Given the description of an element on the screen output the (x, y) to click on. 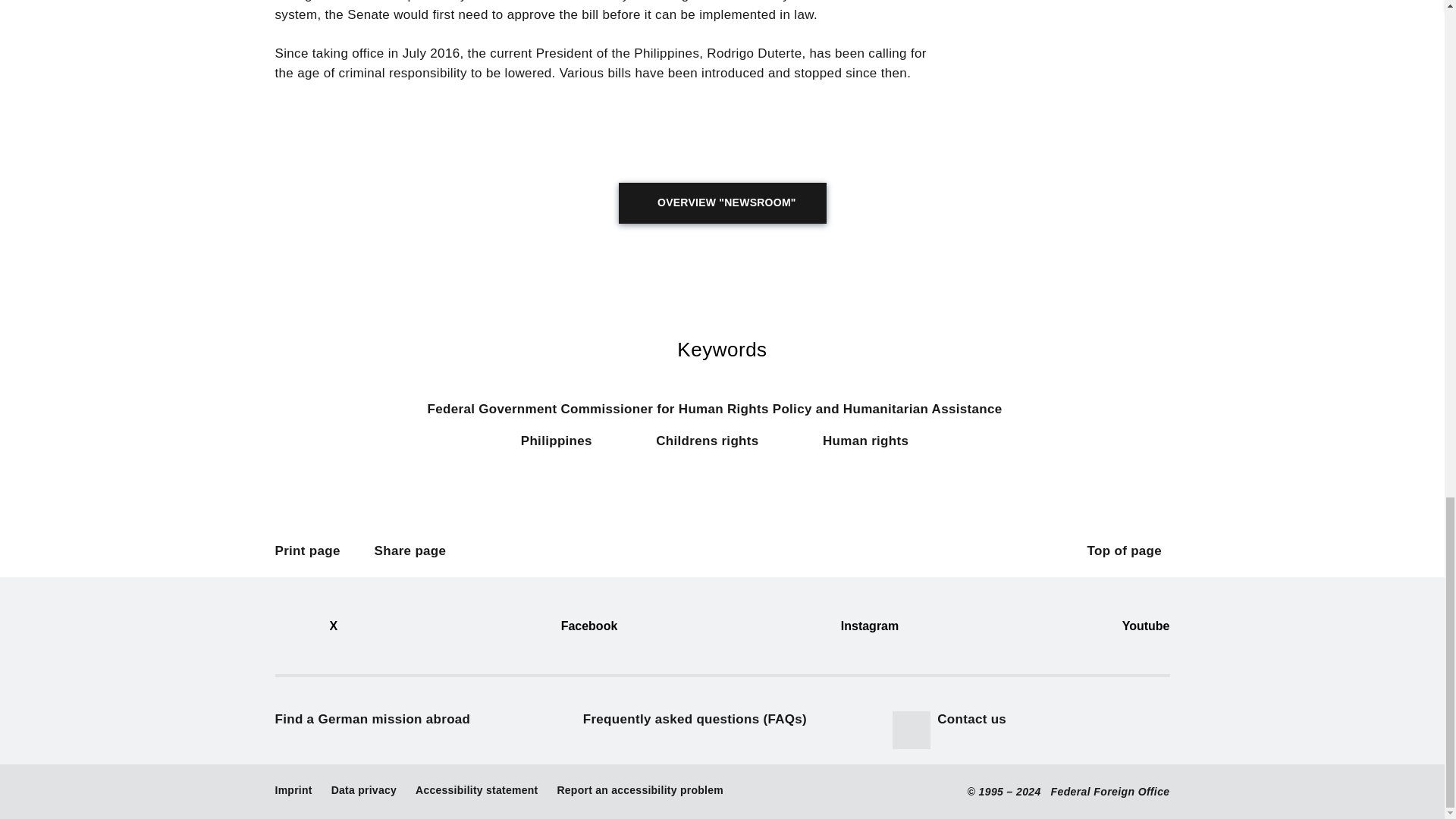
Philippines (563, 449)
Overview Newsroom (722, 202)
